Given the description of an element on the screen output the (x, y) to click on. 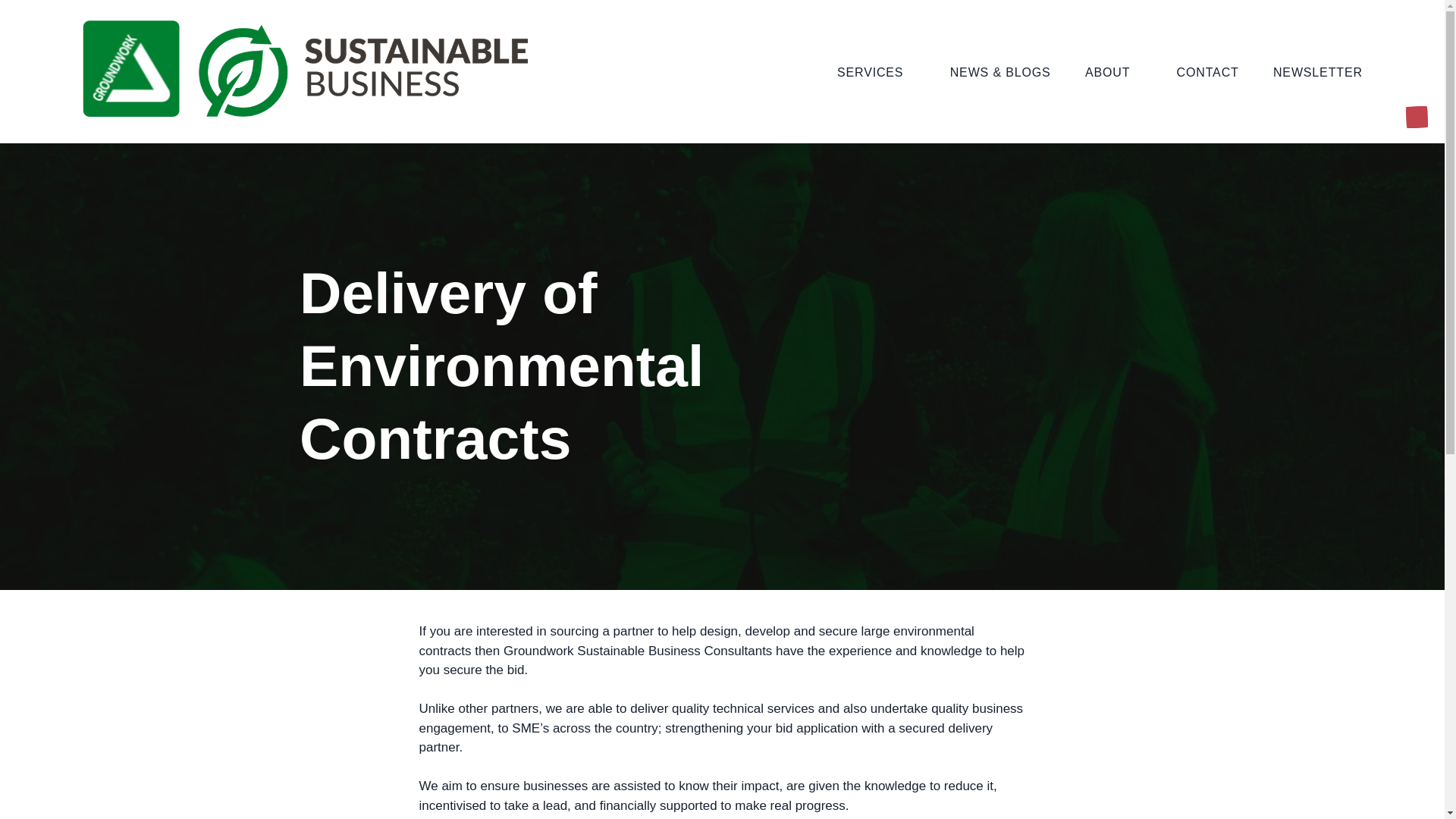
ABOUT (1112, 71)
SERVICES (876, 71)
CONTACT (1207, 71)
NEWSLETTER (1317, 71)
LinkedIn (1413, 117)
SUSTAINABLE BUSINESS CONSULTANTS (235, 150)
